Given the description of an element on the screen output the (x, y) to click on. 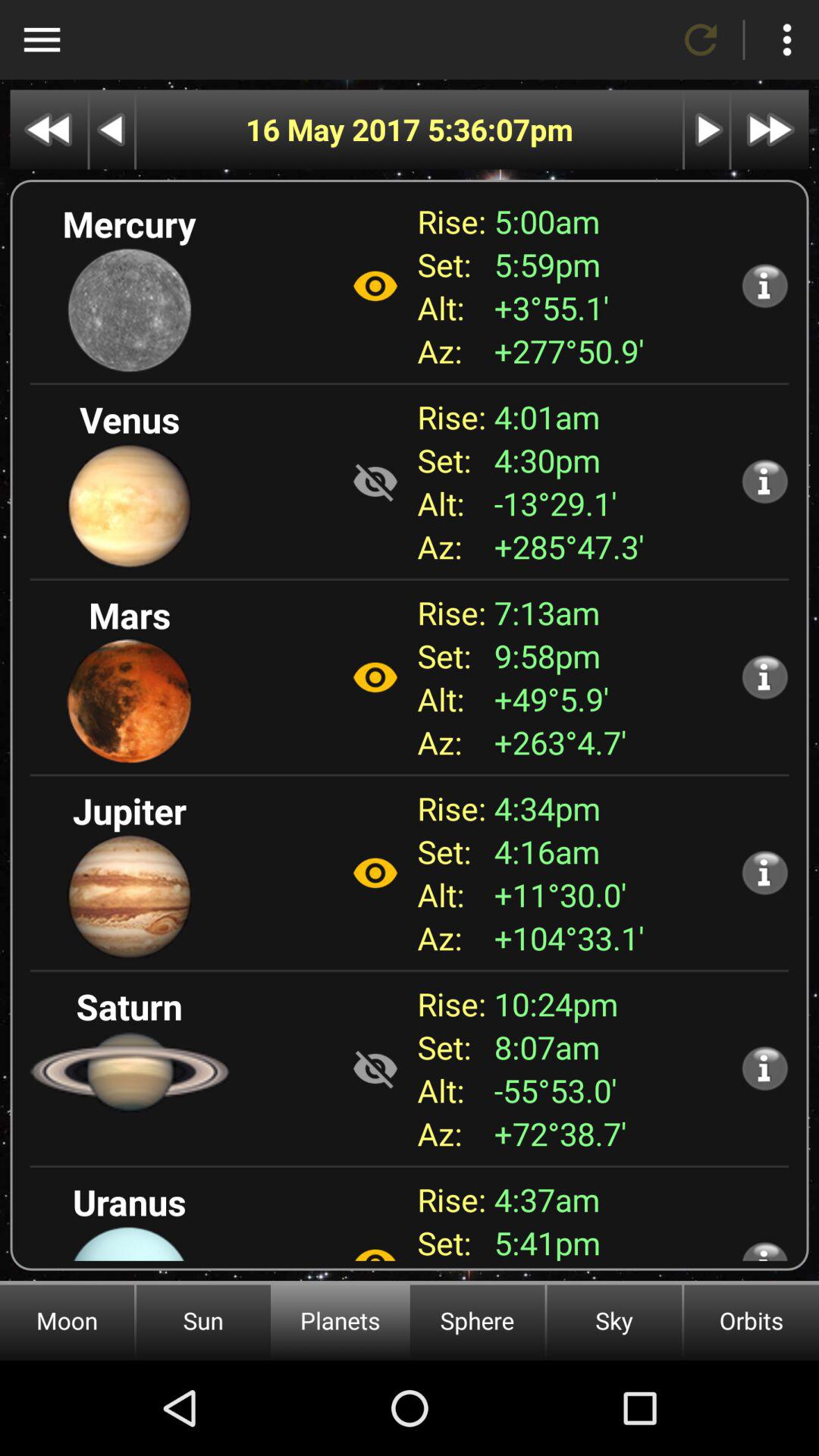
go next (706, 129)
